Given the description of an element on the screen output the (x, y) to click on. 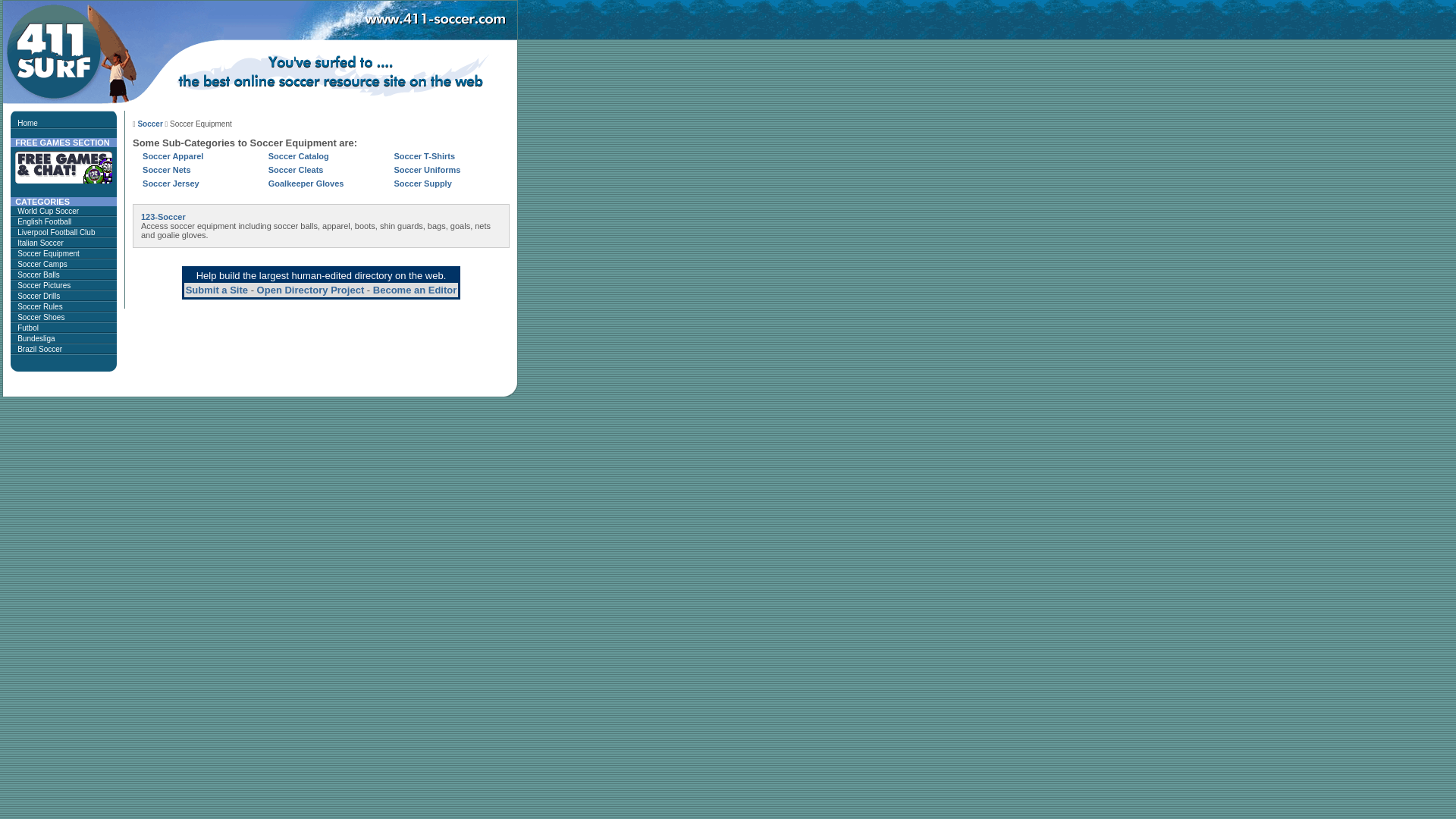
Bundesliga Element type: text (35, 338)
Soccer Apparel Element type: text (172, 155)
Liverpool Football Club Element type: text (55, 232)
Soccer Supply Element type: text (422, 183)
Italian Soccer Element type: text (40, 242)
Soccer Element type: text (149, 123)
World Cup Soccer Element type: text (47, 211)
Brazil Soccer Element type: text (39, 349)
Soccer Catalog Element type: text (298, 155)
Become an Editor Element type: text (415, 289)
English Football Element type: text (44, 221)
Soccer Cleats Element type: text (295, 169)
Submit a Site Element type: text (216, 289)
Soccer Camps Element type: text (42, 264)
Soccer Drills Element type: text (38, 295)
Home Element type: text (27, 123)
Soccer Shoes Element type: text (40, 317)
Futbol Element type: text (27, 327)
Soccer Pictures Element type: text (43, 285)
Soccer Equipment Element type: text (48, 253)
Soccer Jersey Element type: text (170, 183)
Goalkeeper Gloves Element type: text (306, 183)
123-Soccer Element type: text (163, 216)
Soccer Uniforms Element type: text (426, 169)
Open Directory Project Element type: text (310, 289)
Soccer Rules Element type: text (39, 306)
Soccer T-Shirts Element type: text (424, 155)
Soccer Balls Element type: text (38, 274)
Soccer Nets Element type: text (166, 169)
